Given the description of an element on the screen output the (x, y) to click on. 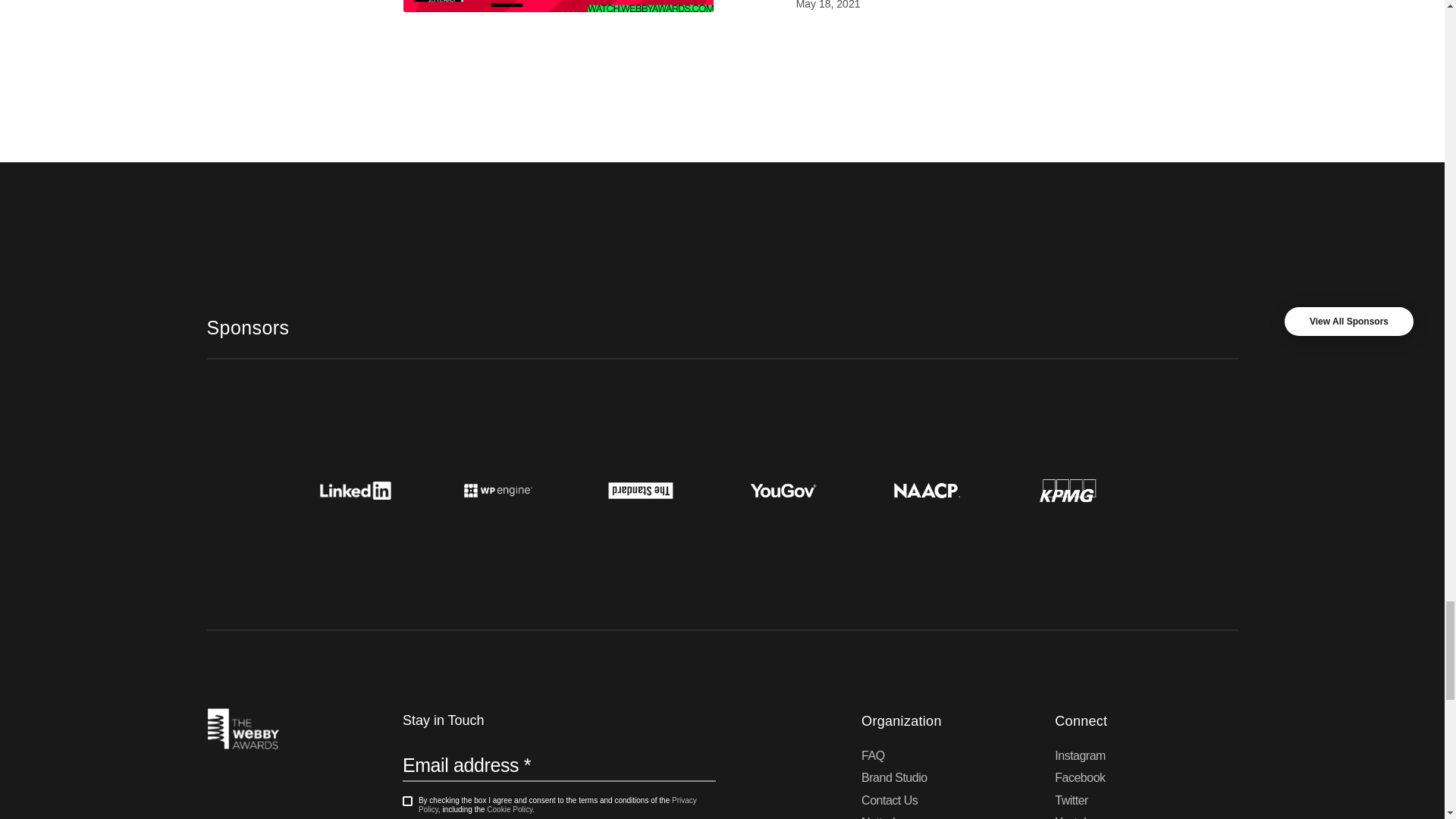
LinkedIn (355, 490)
WP Engine (497, 490)
NAACP (925, 490)
KPMG (1067, 490)
The Standard (640, 490)
YouGov (783, 490)
